Given the description of an element on the screen output the (x, y) to click on. 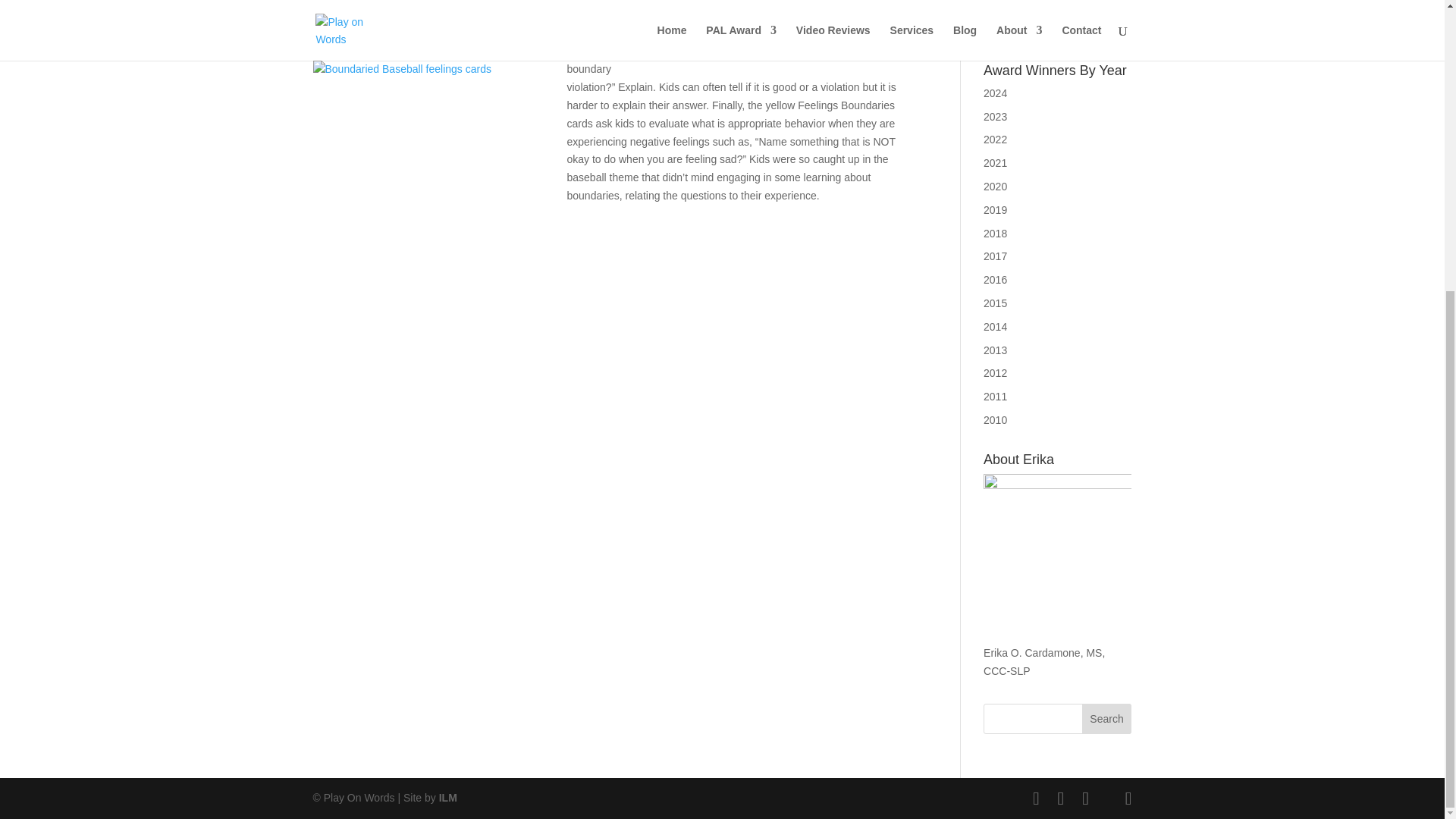
2022 (995, 139)
2018 (995, 233)
Search (1106, 718)
2017 (995, 256)
2013 (995, 349)
2011 (995, 396)
2015 (995, 303)
2014 (995, 326)
2016 (995, 279)
2019 (995, 209)
